Given the description of an element on the screen output the (x, y) to click on. 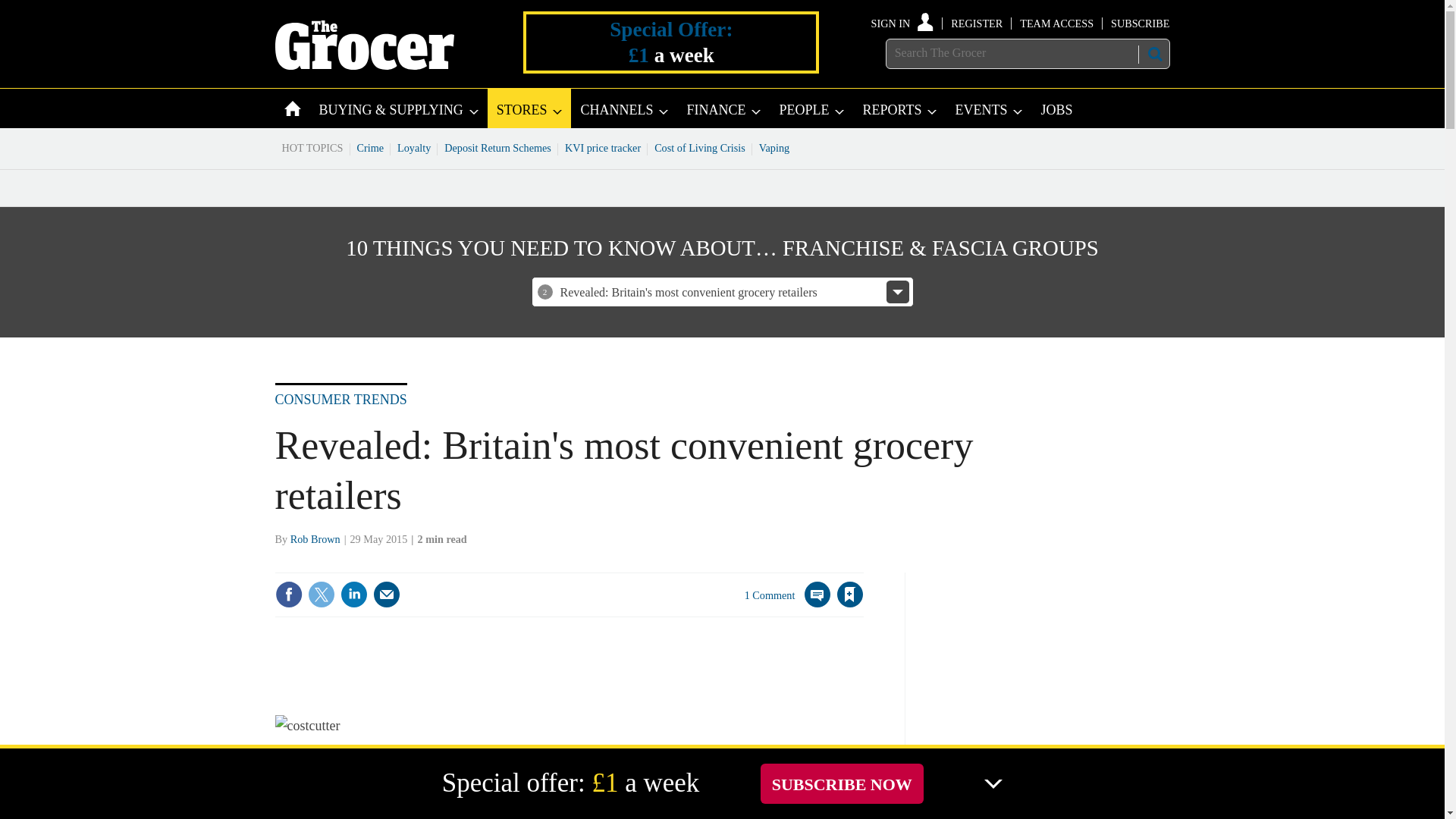
Loyalty (414, 147)
Share this on Linked in (352, 594)
SUBSCRIBE (1139, 23)
REGISTER (976, 23)
KVI price tracker (602, 147)
Email this article (386, 594)
Cost of Living Crisis (699, 147)
Deposit Return Schemes (497, 147)
SEARCH (1153, 53)
Share this on Twitter (320, 594)
